Given the description of an element on the screen output the (x, y) to click on. 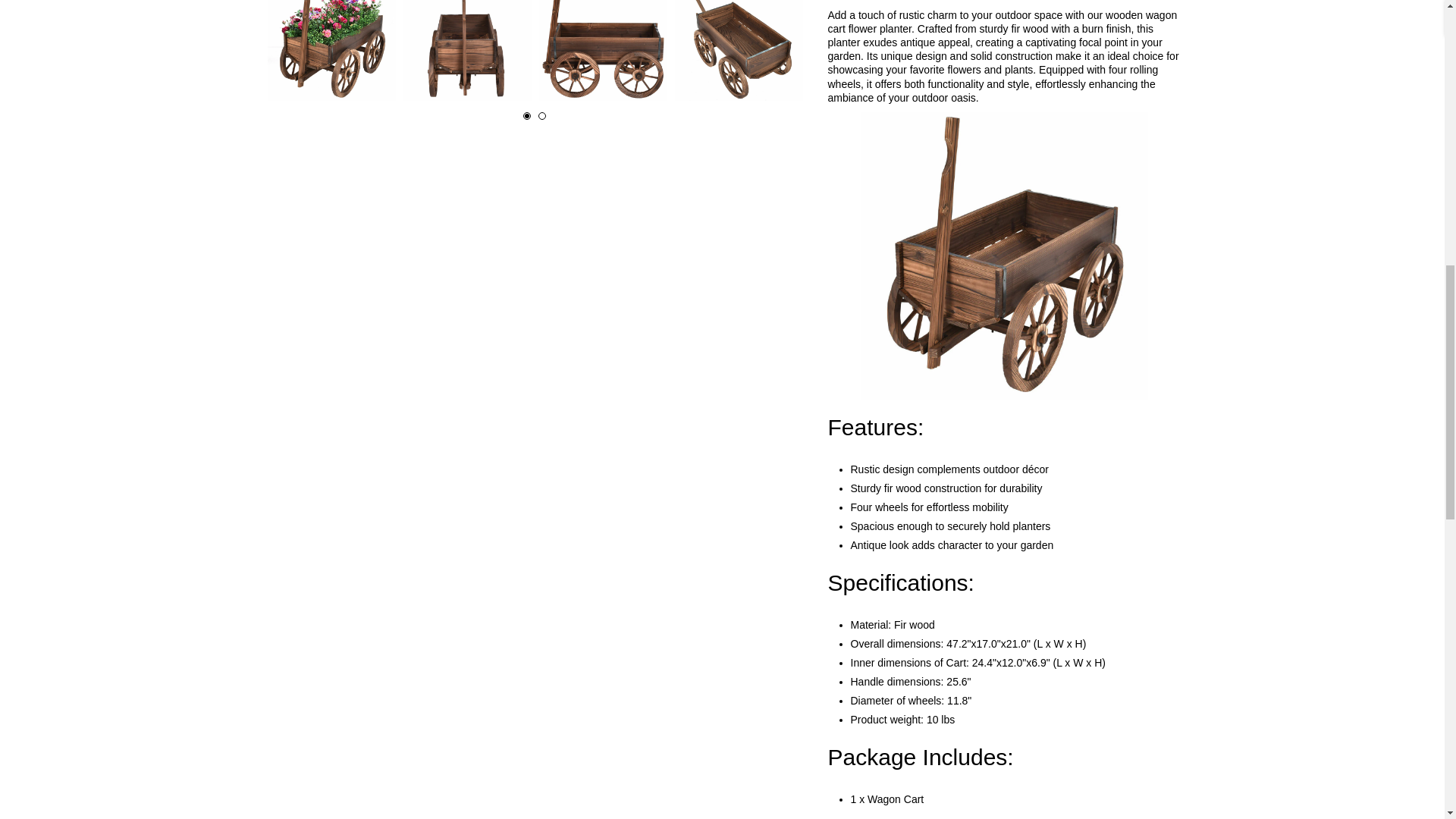
Wooden Wagon Cart Flower Planter Pot Stand with Wheels (330, 50)
Wooden Wagon Cart Flower Planter Pot Stand with Wheels (602, 50)
Wooden Wagon Cart Flower Planter Pot Stand with Wheels (467, 50)
Wooden Wagon Cart Flower Planter Pot Stand with Wheels (739, 50)
